Given the description of an element on the screen output the (x, y) to click on. 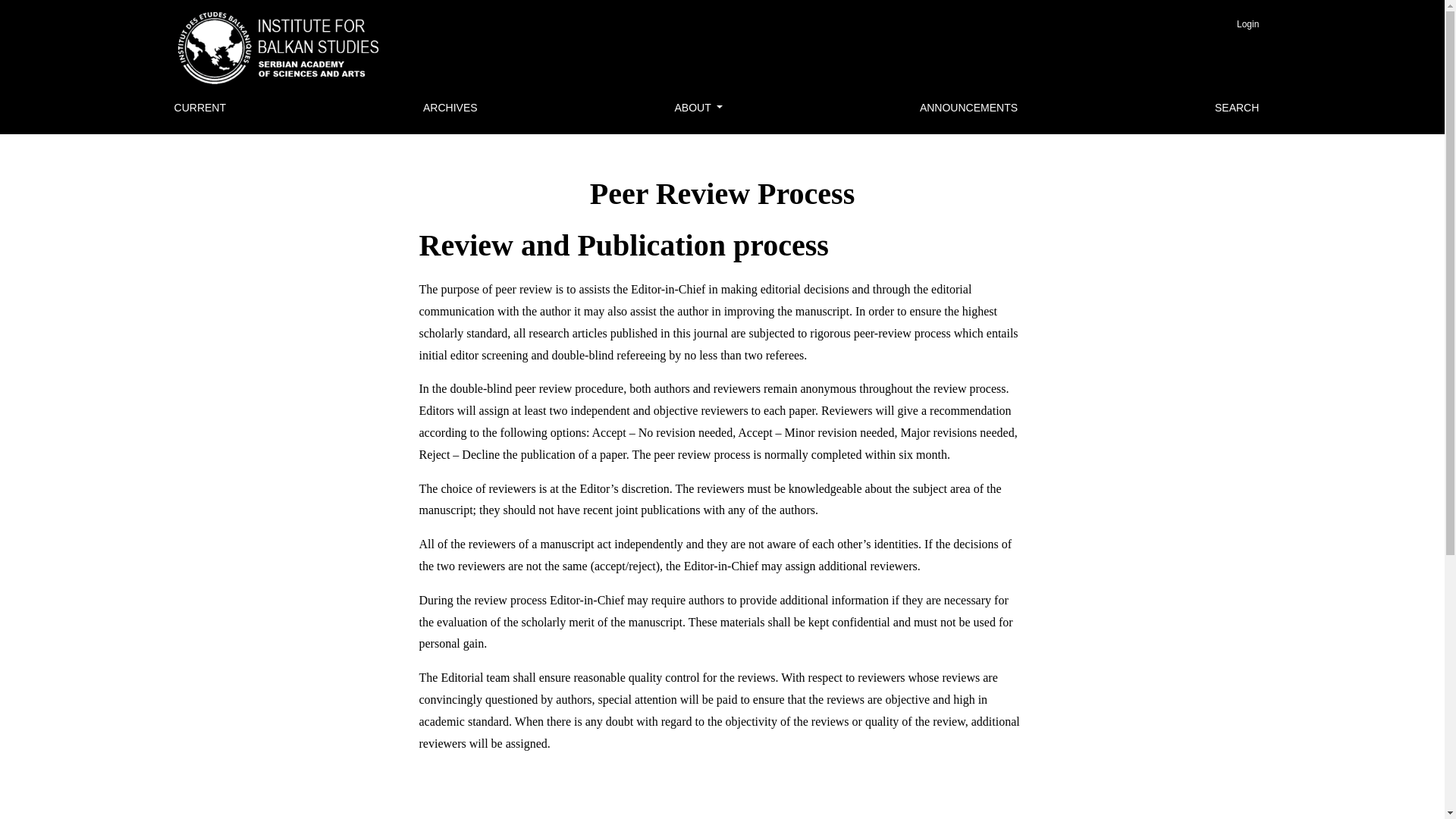
ANNOUNCEMENTS (968, 107)
ABOUT (698, 107)
Login (1247, 24)
CURRENT (199, 107)
ARCHIVES (449, 107)
SEARCH (1236, 107)
